Given the description of an element on the screen output the (x, y) to click on. 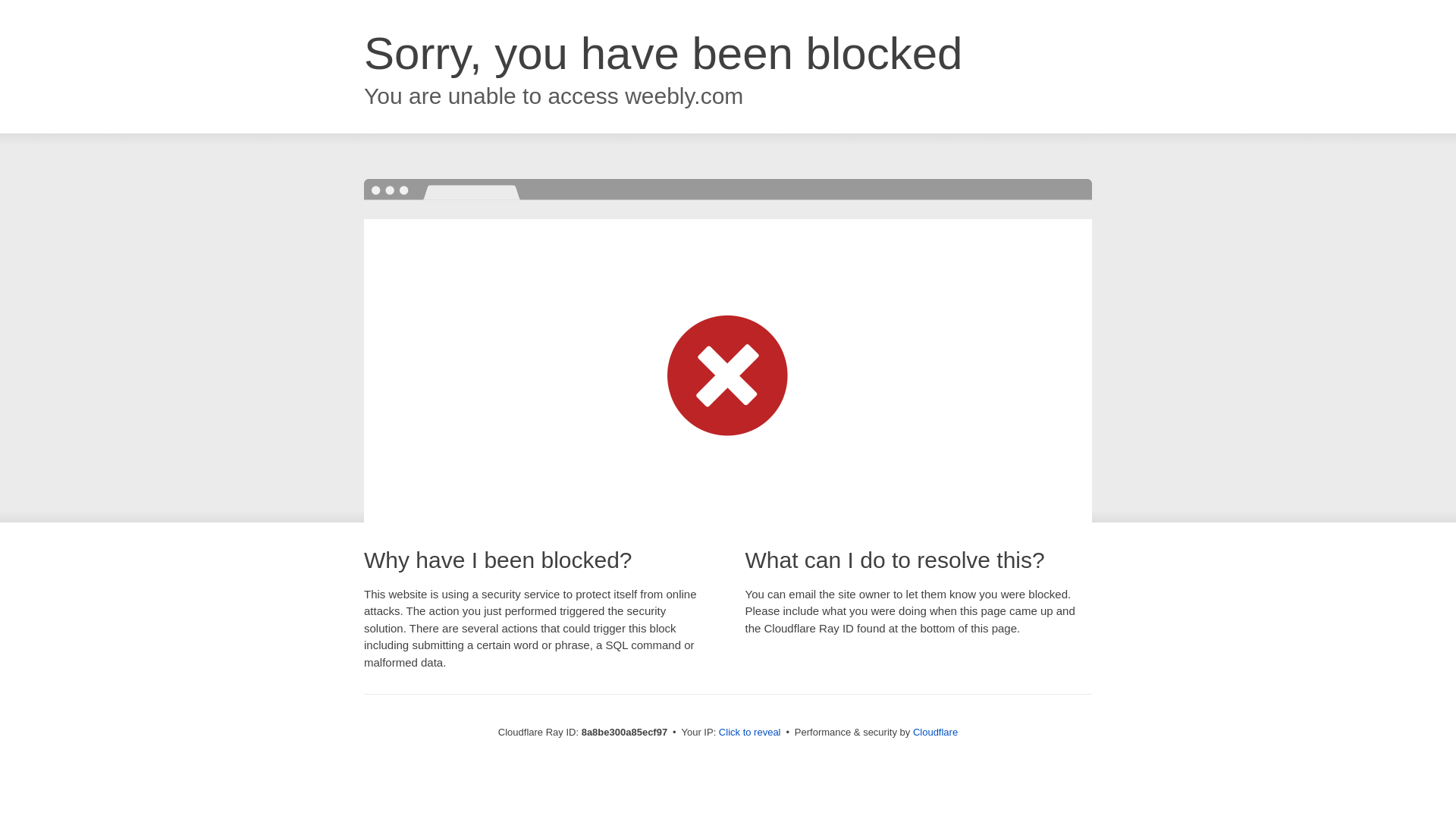
Cloudflare (935, 731)
Click to reveal (749, 732)
